Given the description of an element on the screen output the (x, y) to click on. 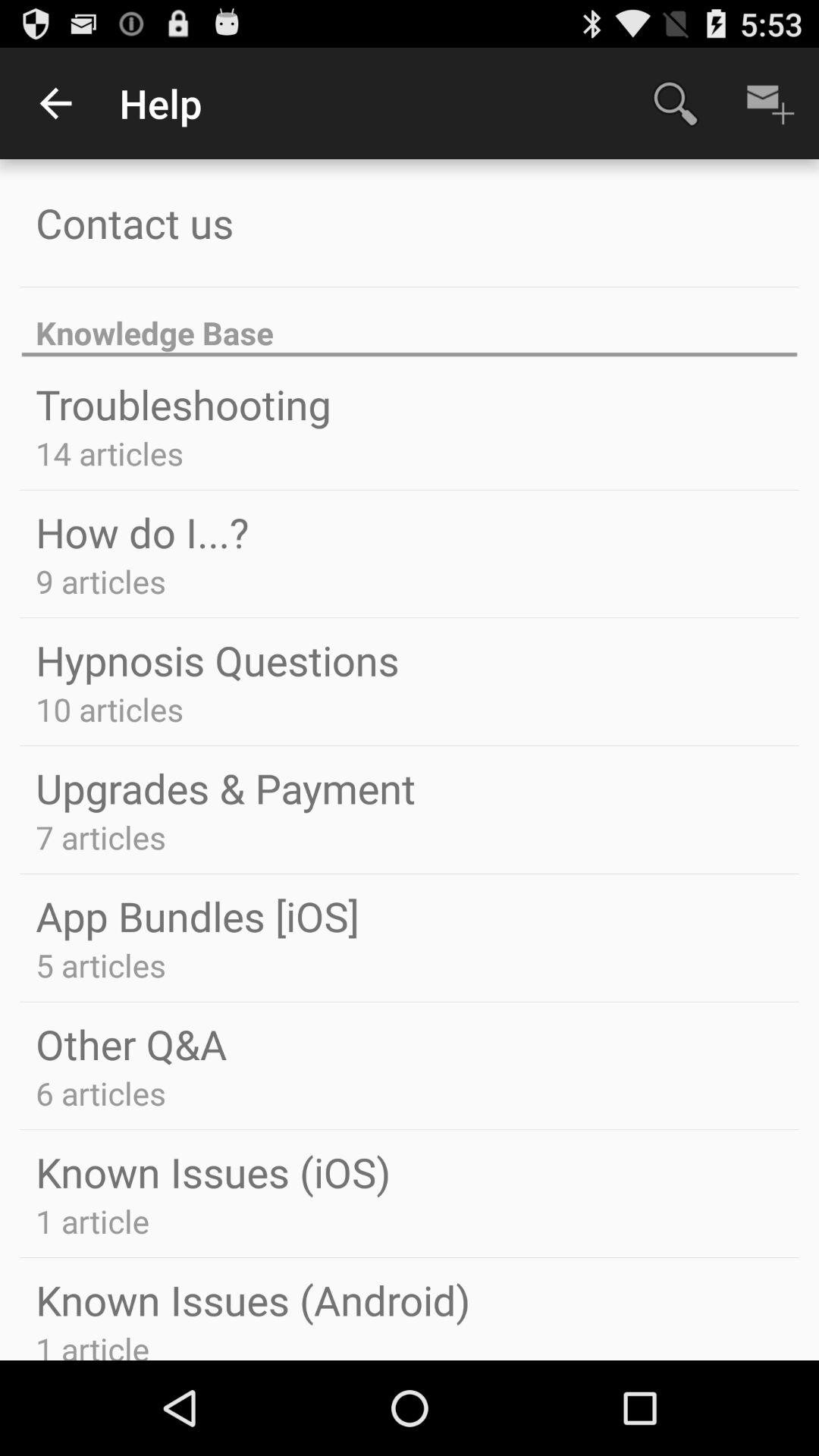
open the other q&a app (130, 1043)
